Given the description of an element on the screen output the (x, y) to click on. 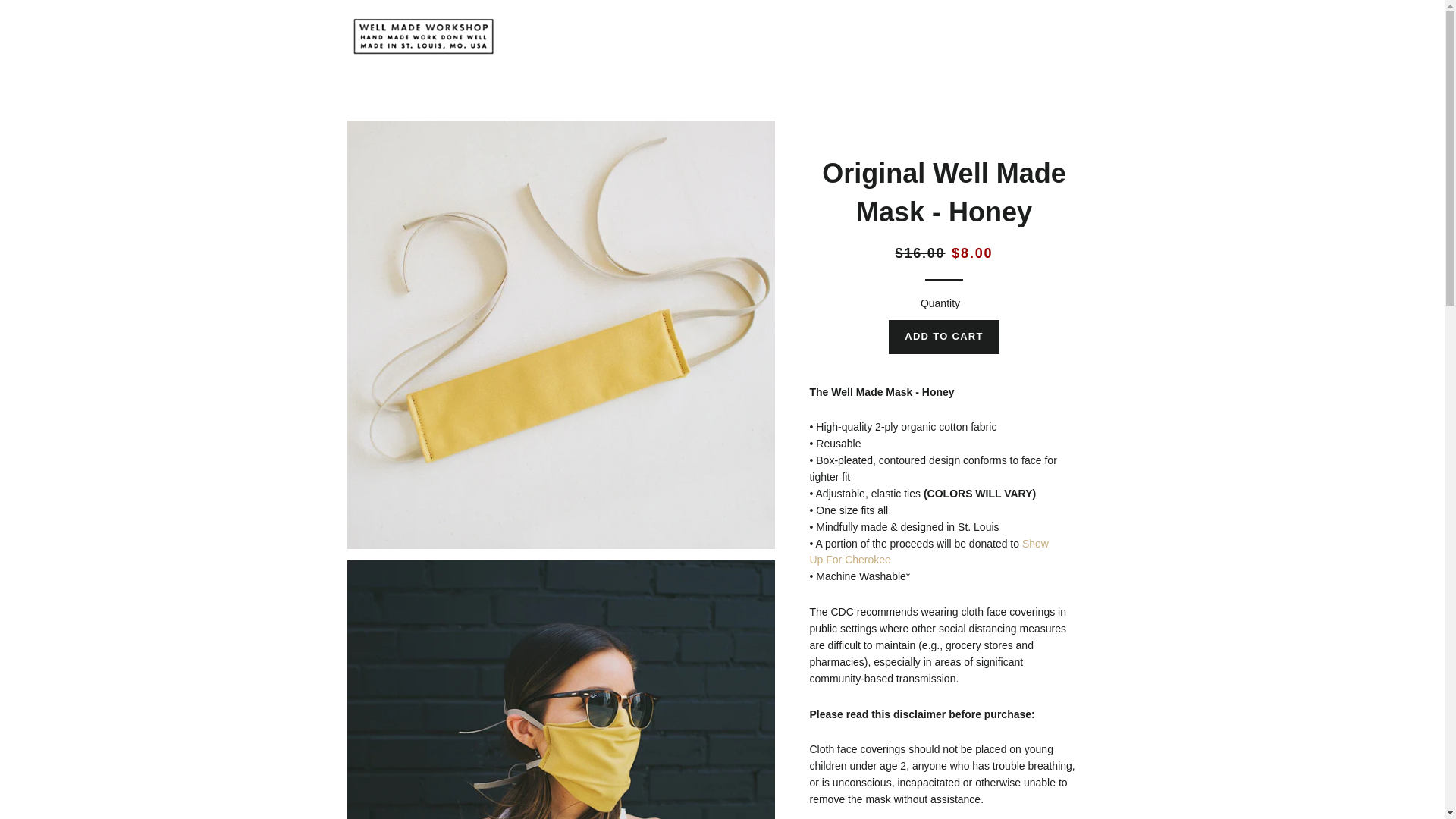
Show Up For Cherokee (928, 551)
Show Up For Cherokee (928, 551)
ADD TO CART (943, 336)
